Given the description of an element on the screen output the (x, y) to click on. 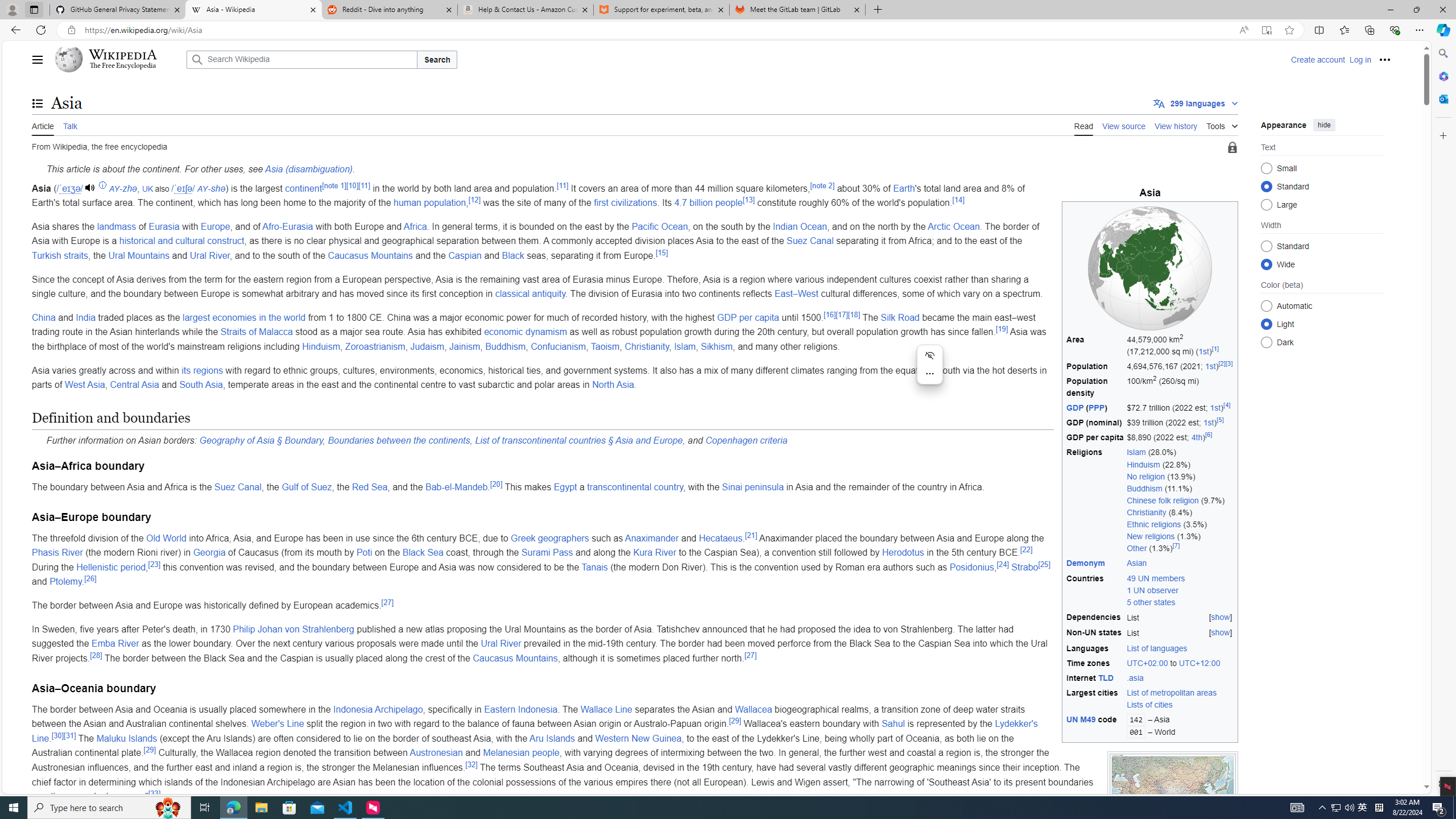
Melanesian people (521, 752)
Confucianism (557, 346)
[show] (1220, 632)
[2] (1221, 363)
Asian (1179, 563)
Earth (903, 188)
Search Wikipedia (301, 59)
hide (1324, 124)
Demonym (1095, 563)
Largest cities (1095, 698)
Hecataeus (720, 537)
